Given the description of an element on the screen output the (x, y) to click on. 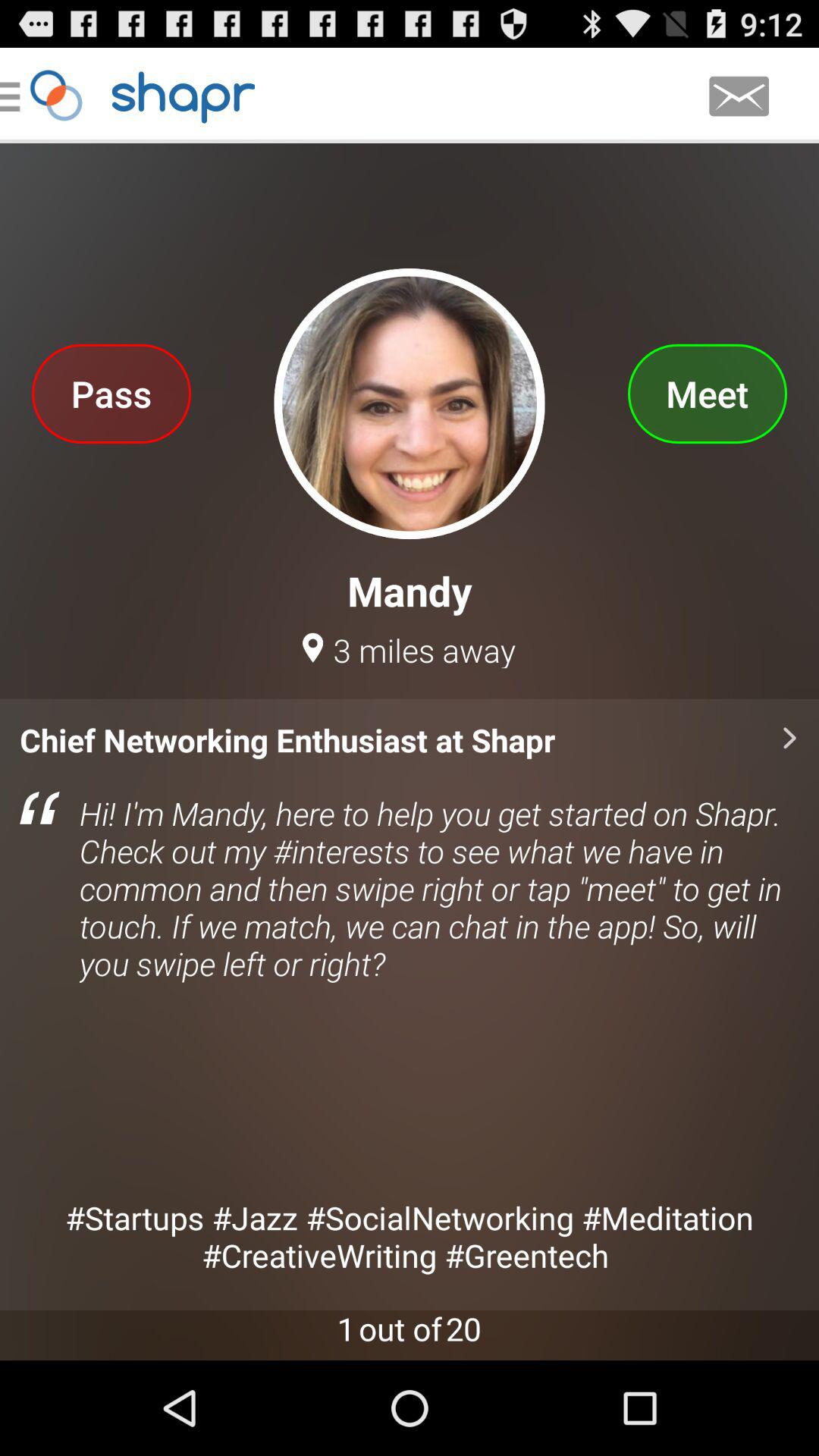
turn on the meet (707, 393)
